Given the description of an element on the screen output the (x, y) to click on. 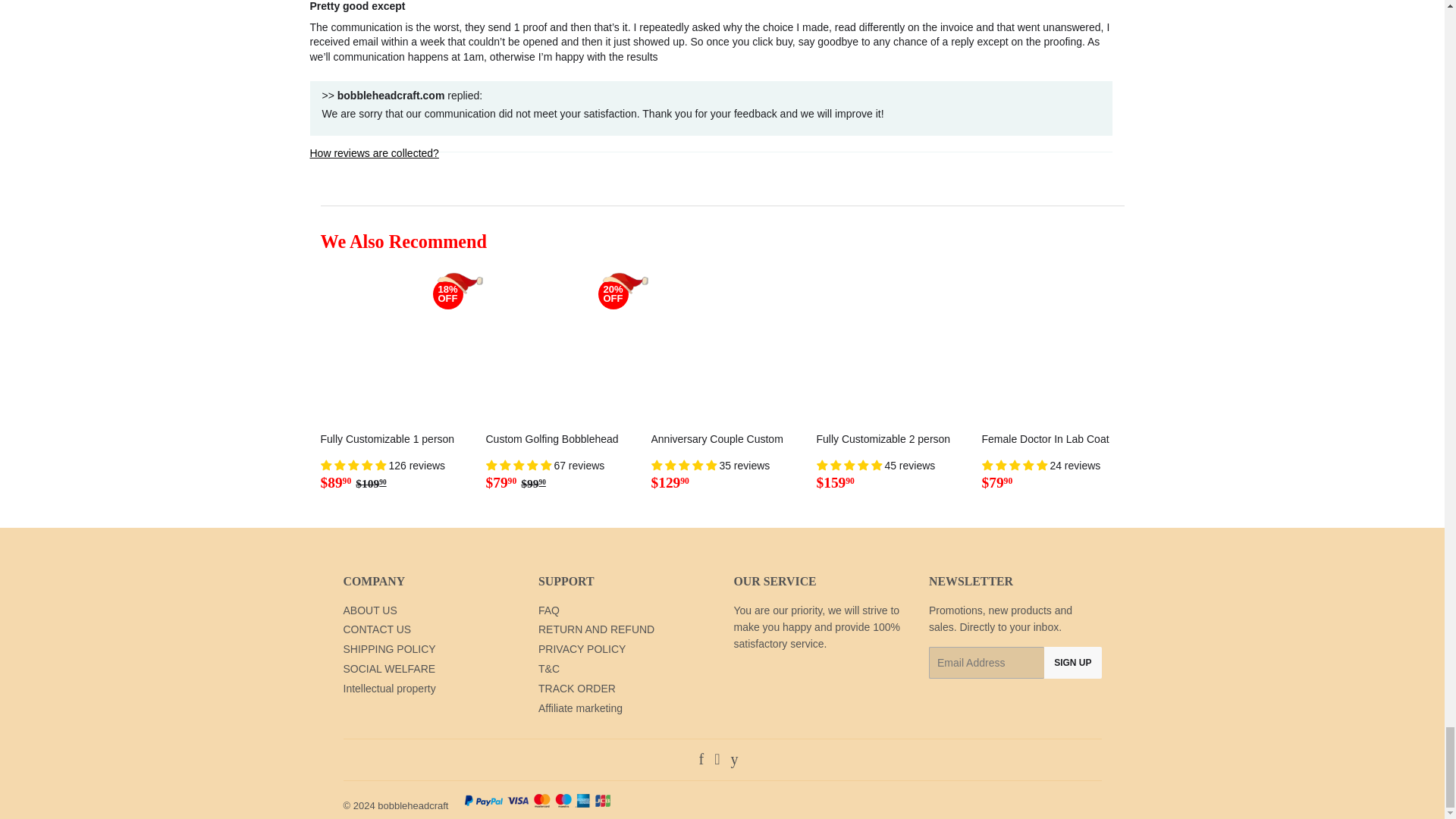
bobbleheadcraft on Facebook (701, 760)
bobbleheadcraft on Instagram (716, 760)
bobbleheadcraft on YouTube (734, 760)
